Given the description of an element on the screen output the (x, y) to click on. 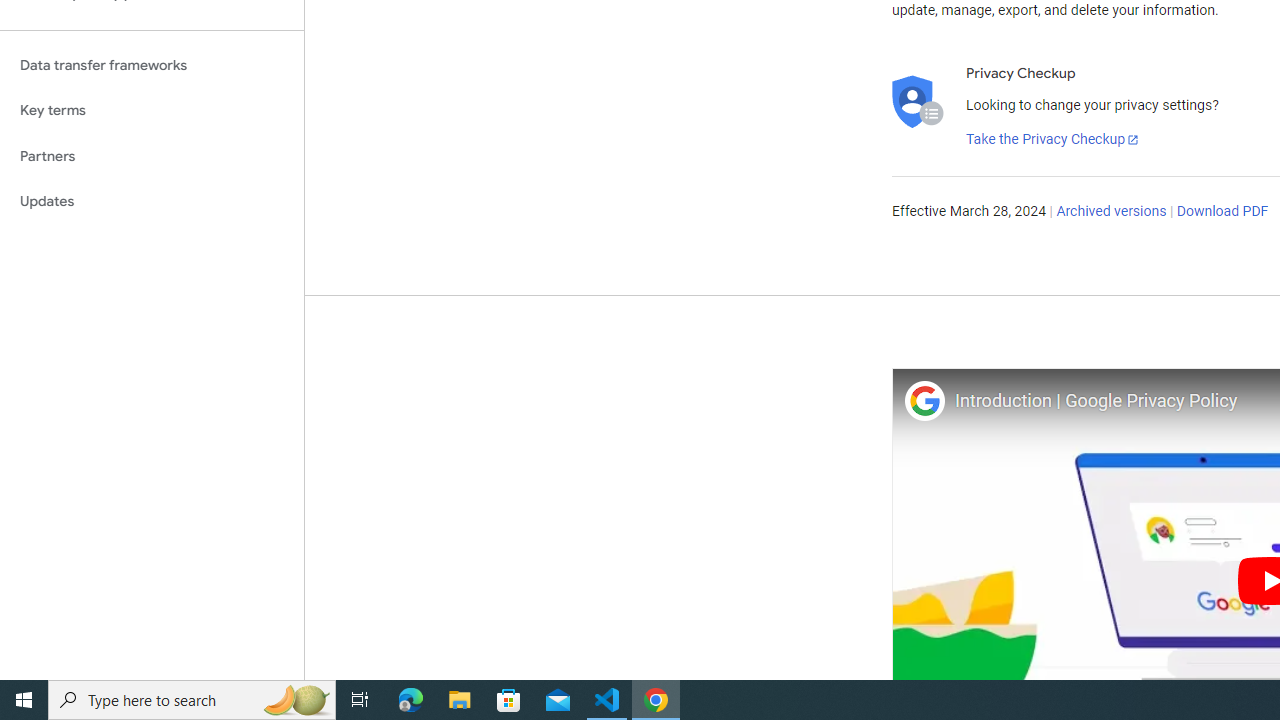
Archived versions (1111, 212)
Photo image of Google (924, 400)
Take the Privacy Checkup (1053, 140)
Download PDF (1222, 212)
